Given the description of an element on the screen output the (x, y) to click on. 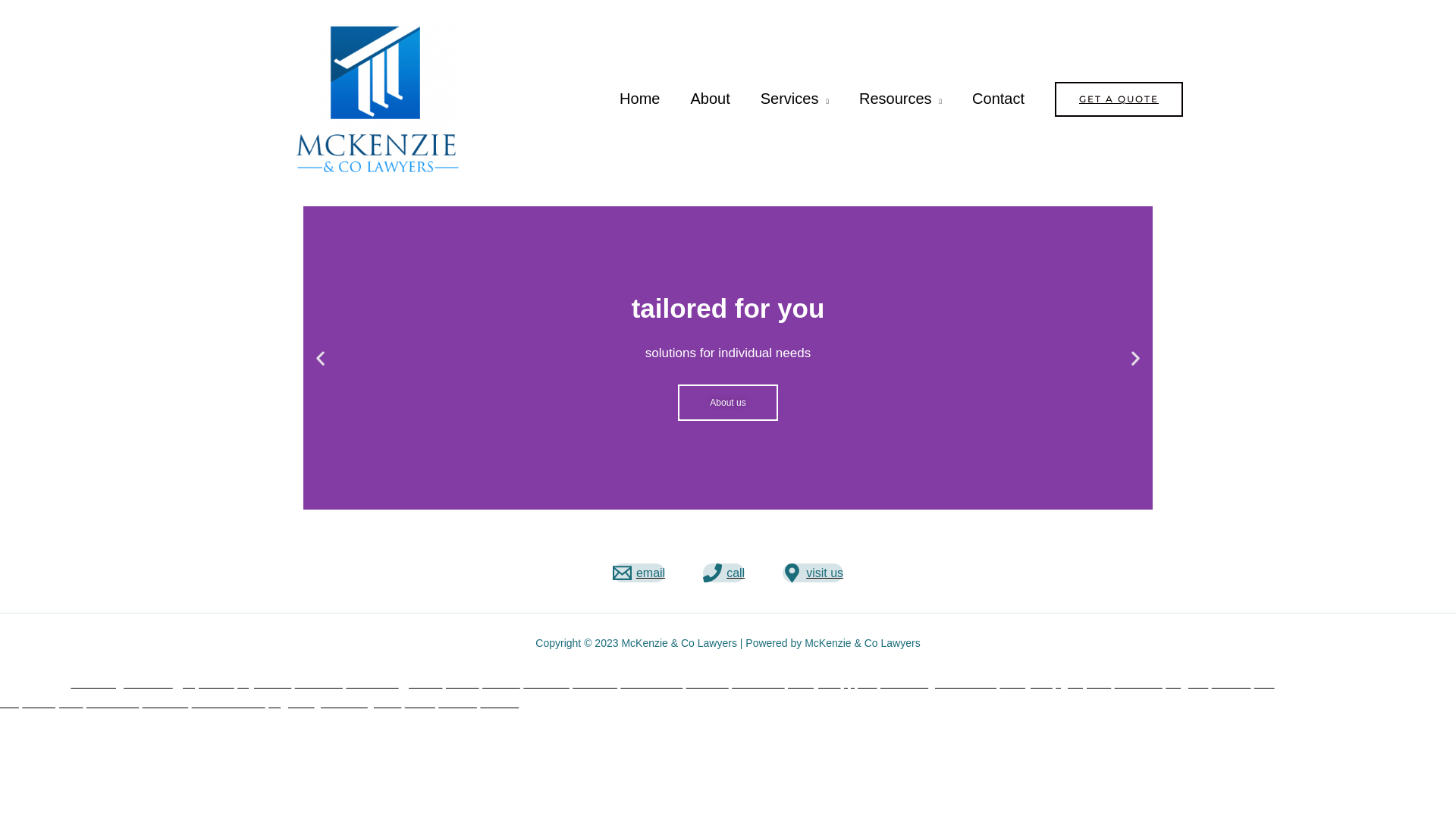
luxury138 Element type: text (813, 682)
bro138 Element type: text (501, 682)
ligaciputra Element type: text (1082, 682)
slot zeus Element type: text (318, 682)
harta138 Element type: text (904, 682)
Home Element type: text (639, 98)
indobet slot Element type: text (651, 682)
pandora188 Element type: text (963, 682)
kaisar888 Element type: text (371, 682)
slot5000gacor.com Element type: text (121, 682)
kaisar138 Element type: text (112, 702)
About us Element type: text (727, 402)
king168 Element type: text (1186, 682)
Services Element type: text (794, 98)
mantap138 Element type: text (51, 702)
vegas77 Element type: text (291, 702)
luxury777 Element type: text (1025, 682)
idn slot Element type: text (499, 702)
area188 Element type: text (594, 682)
qqalfa Element type: text (860, 682)
mantra88 slot Element type: text (228, 702)
GET A QUOTE Element type: text (1118, 98)
infini88 Element type: text (457, 702)
email Element type: text (638, 572)
poker Element type: text (385, 702)
call Element type: text (723, 572)
sky77 slot Element type: text (264, 682)
Resources Element type: text (900, 98)
gaspol slot Element type: text (204, 682)
Contact Element type: text (998, 98)
zeus123 Element type: text (165, 702)
gen777 Element type: text (421, 682)
hoki368 Element type: text (707, 682)
pokerseri Element type: text (342, 702)
aladin138 Element type: text (757, 682)
visit us Element type: text (812, 572)
slot500 Element type: text (1231, 682)
koko303 Element type: text (546, 682)
bos88 Element type: text (462, 682)
roman77 Element type: text (1138, 682)
About Element type: text (709, 98)
138 slot Element type: text (637, 692)
bet88 Element type: text (419, 702)
